Given the description of an element on the screen output the (x, y) to click on. 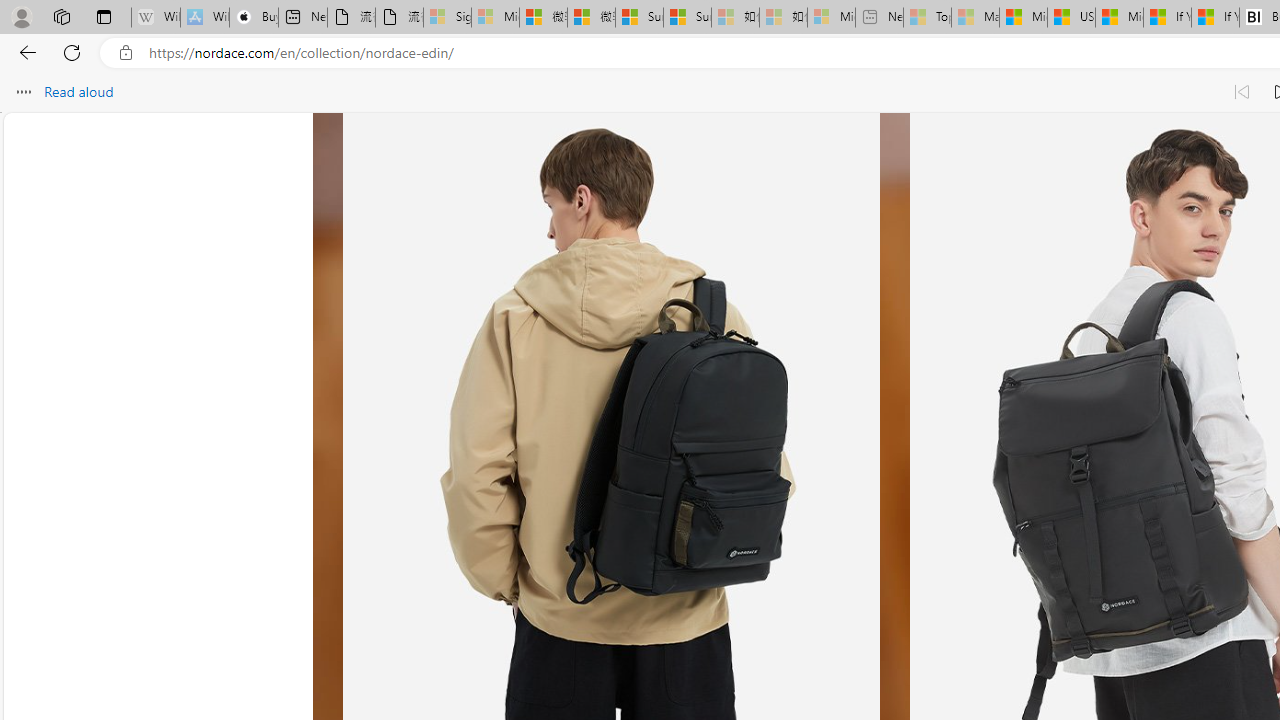
Sign in to your Microsoft account - Sleeping (447, 17)
Marine life - MSN - Sleeping (975, 17)
Microsoft Services Agreement - Sleeping (495, 17)
Read previous paragraph (1241, 92)
Microsoft account | Account Checkup - Sleeping (831, 17)
